Given the description of an element on the screen output the (x, y) to click on. 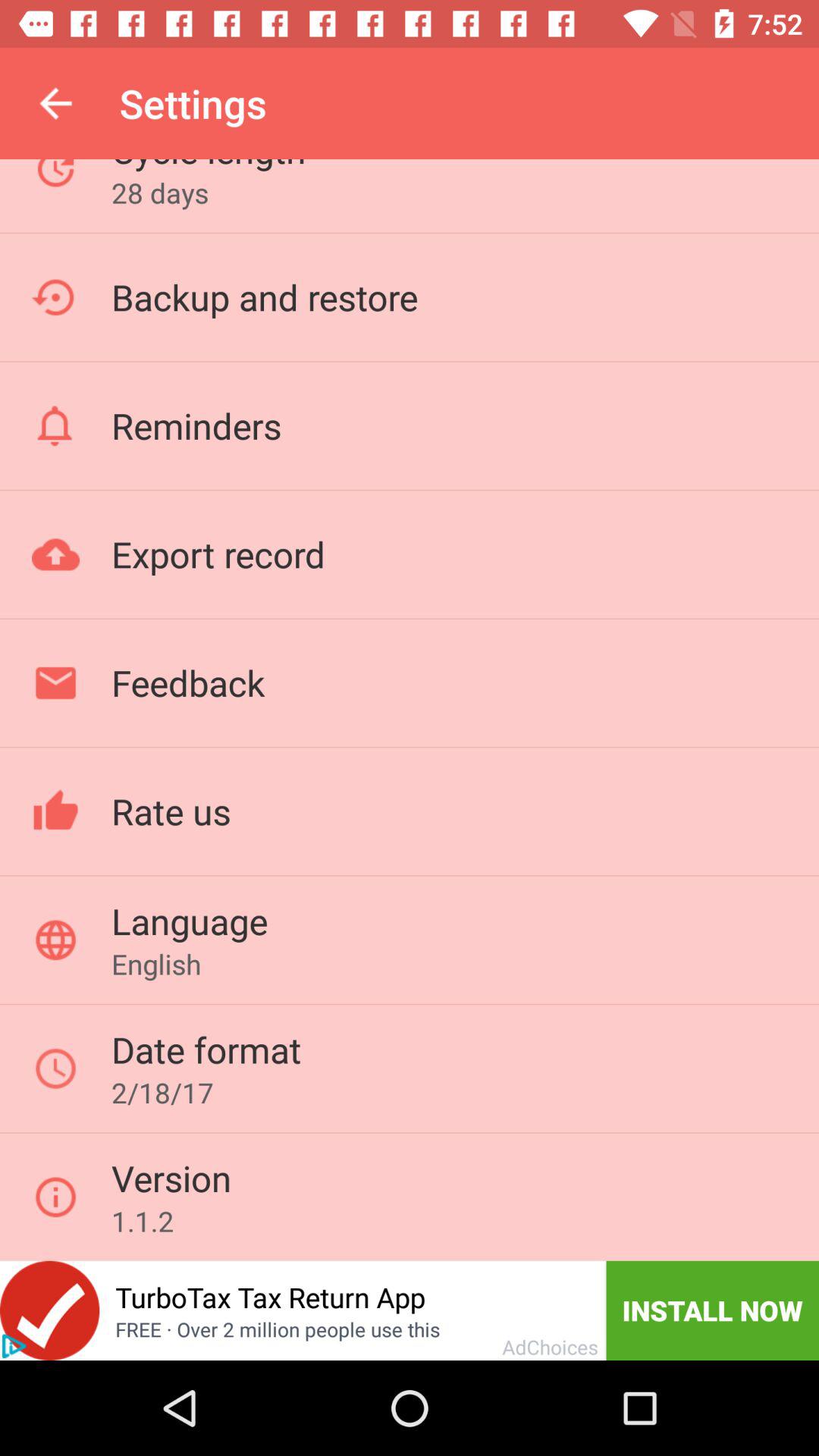
click the 2/18/17 (162, 1092)
